Given the description of an element on the screen output the (x, y) to click on. 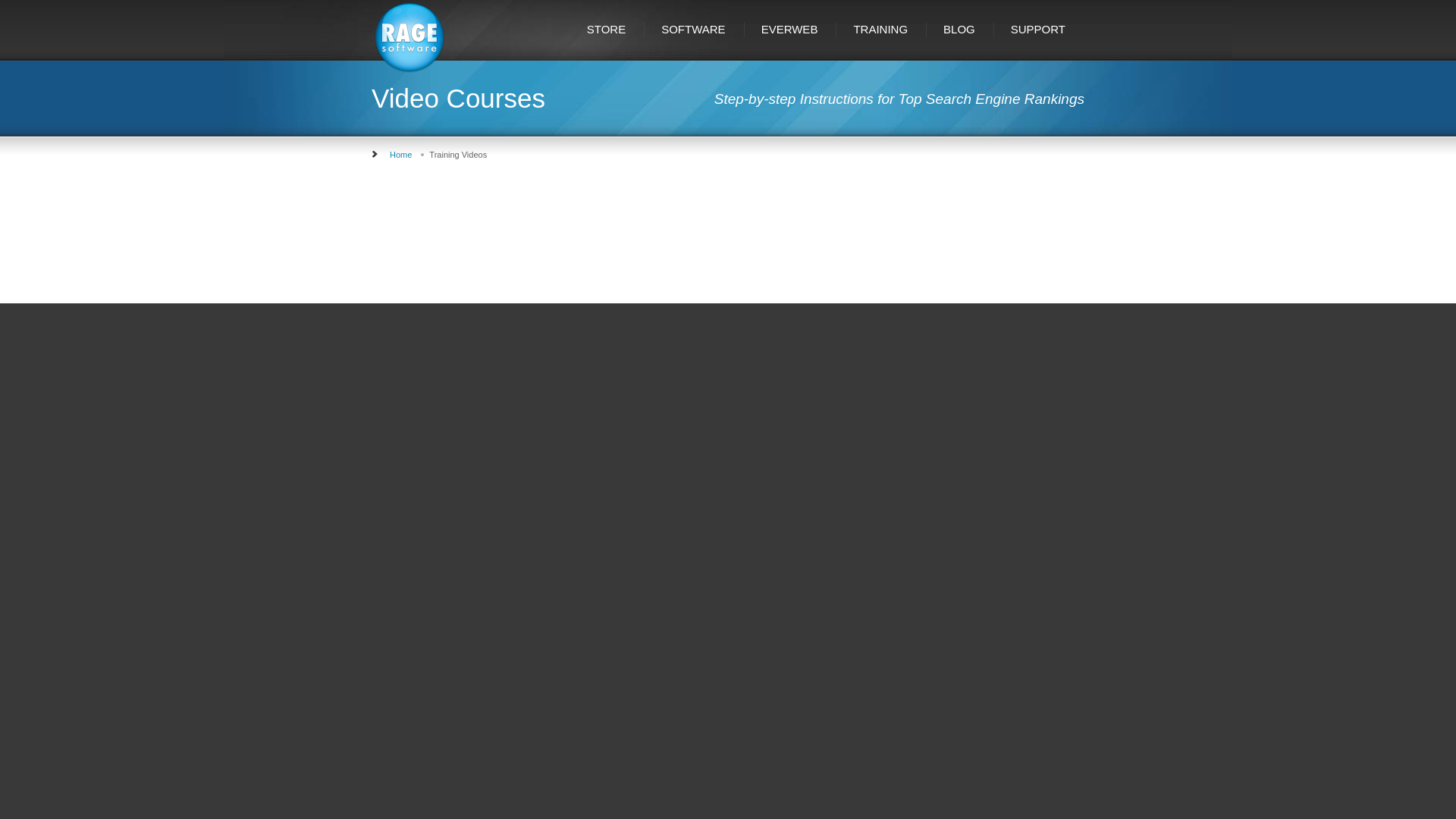
Home (401, 153)
EVERWEB (790, 28)
BLOG (960, 28)
TRAINING (880, 28)
SUPPORT (1039, 28)
SOFTWARE (694, 28)
STORE (607, 28)
